Given the description of an element on the screen output the (x, y) to click on. 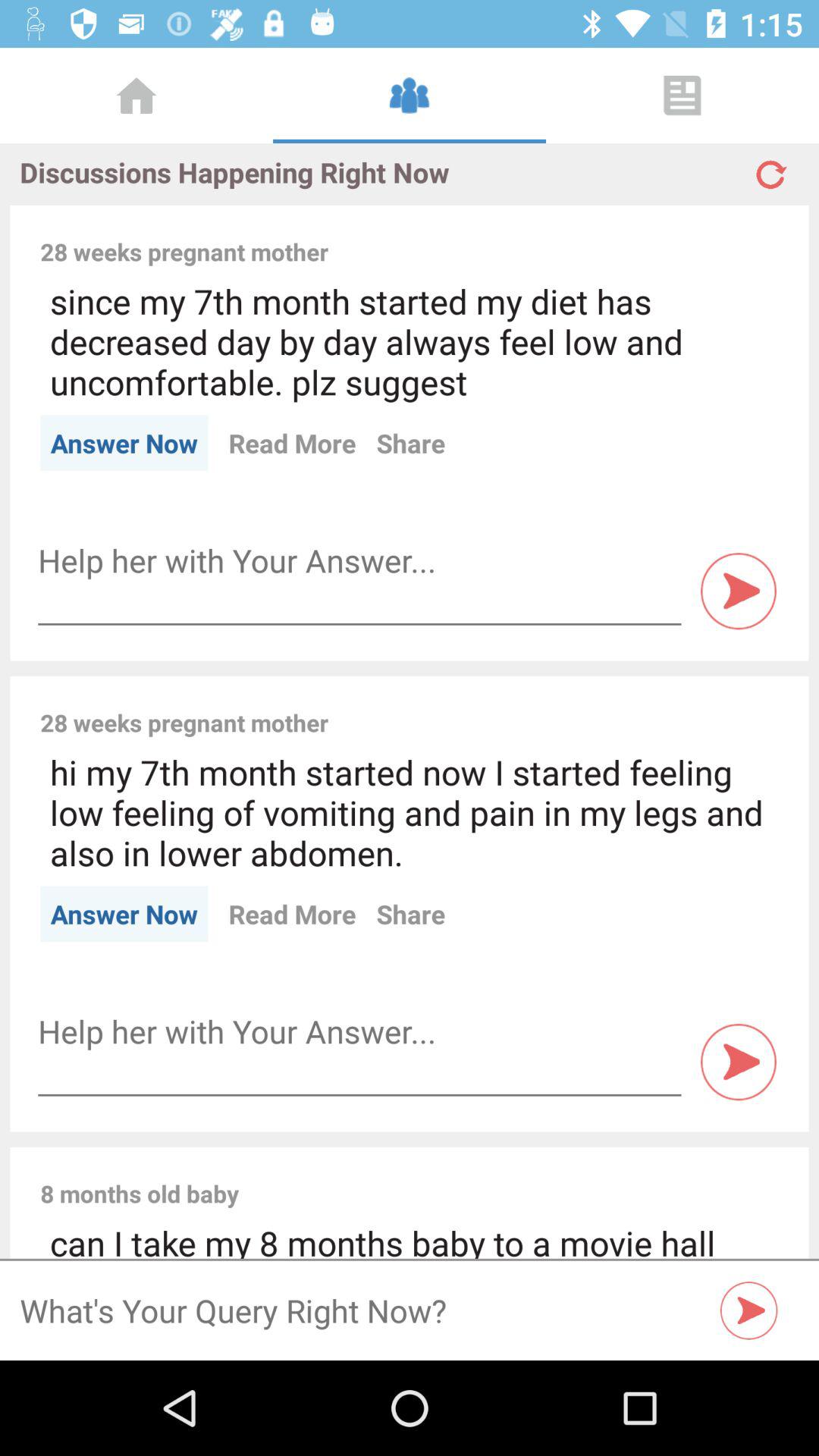
turn off the item to the right of the 28 weeks pregnant (563, 235)
